Given the description of an element on the screen output the (x, y) to click on. 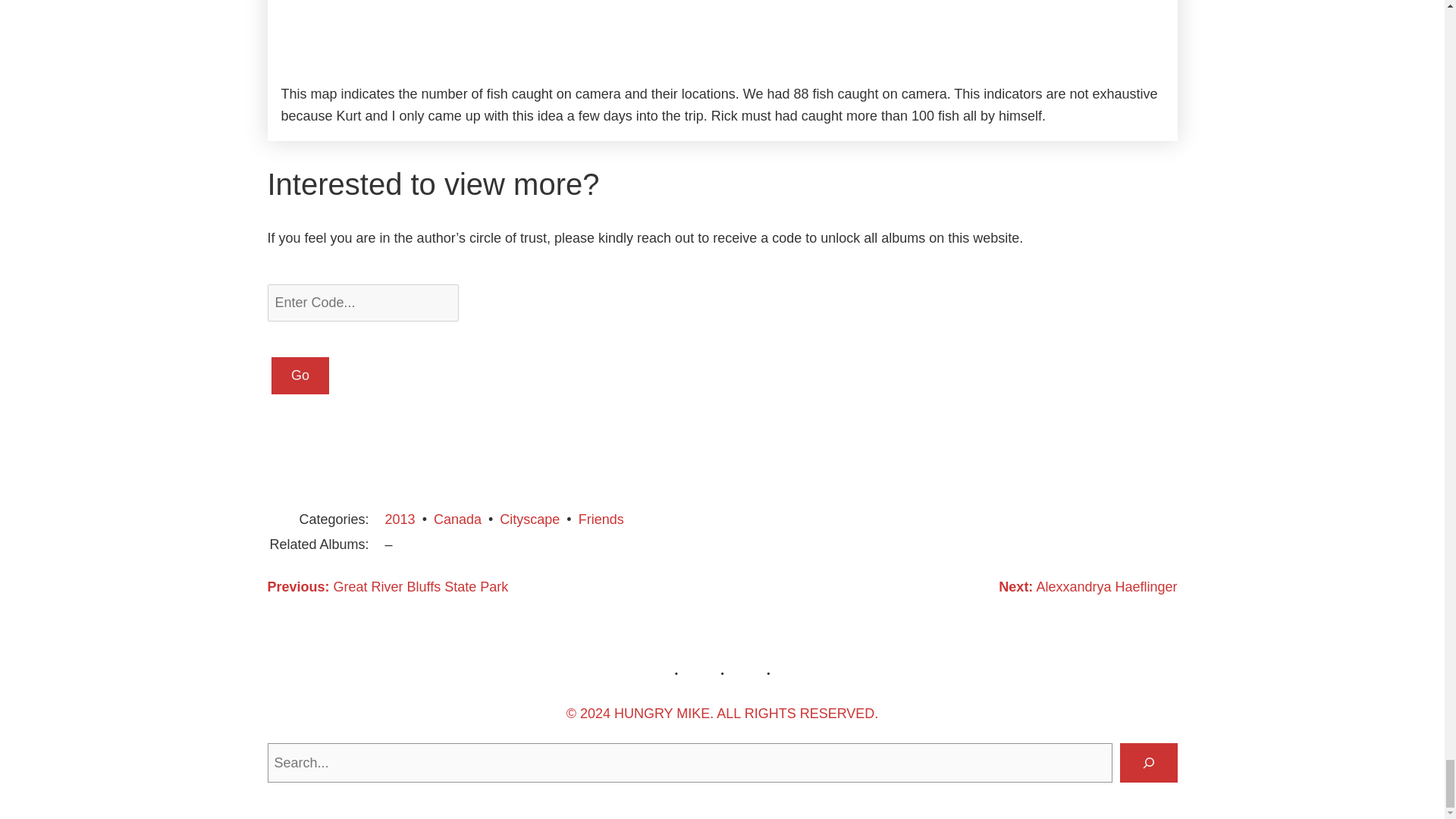
Go (299, 375)
